Given the description of an element on the screen output the (x, y) to click on. 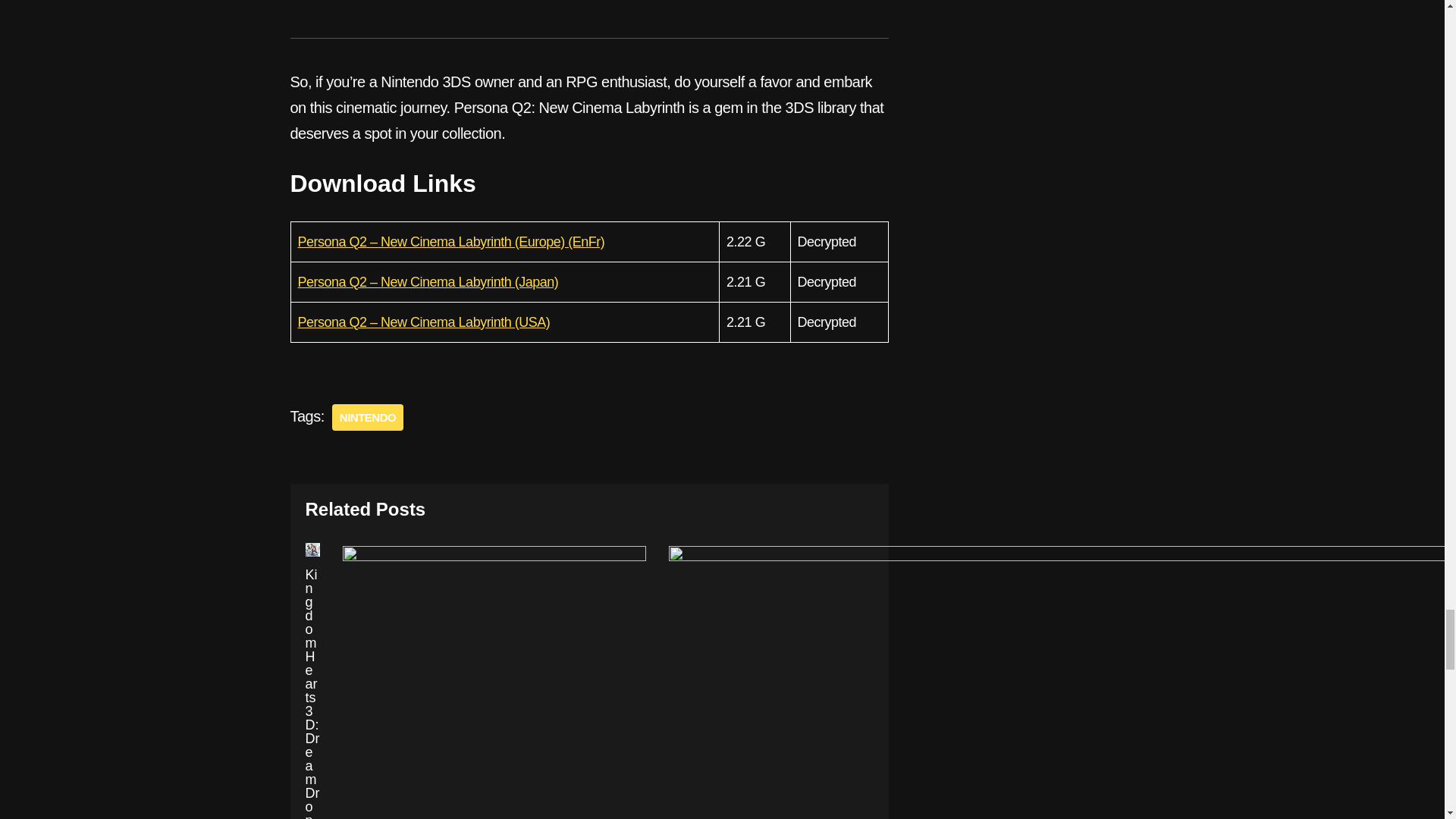
Nintendo (367, 417)
NINTENDO (367, 417)
